Given the description of an element on the screen output the (x, y) to click on. 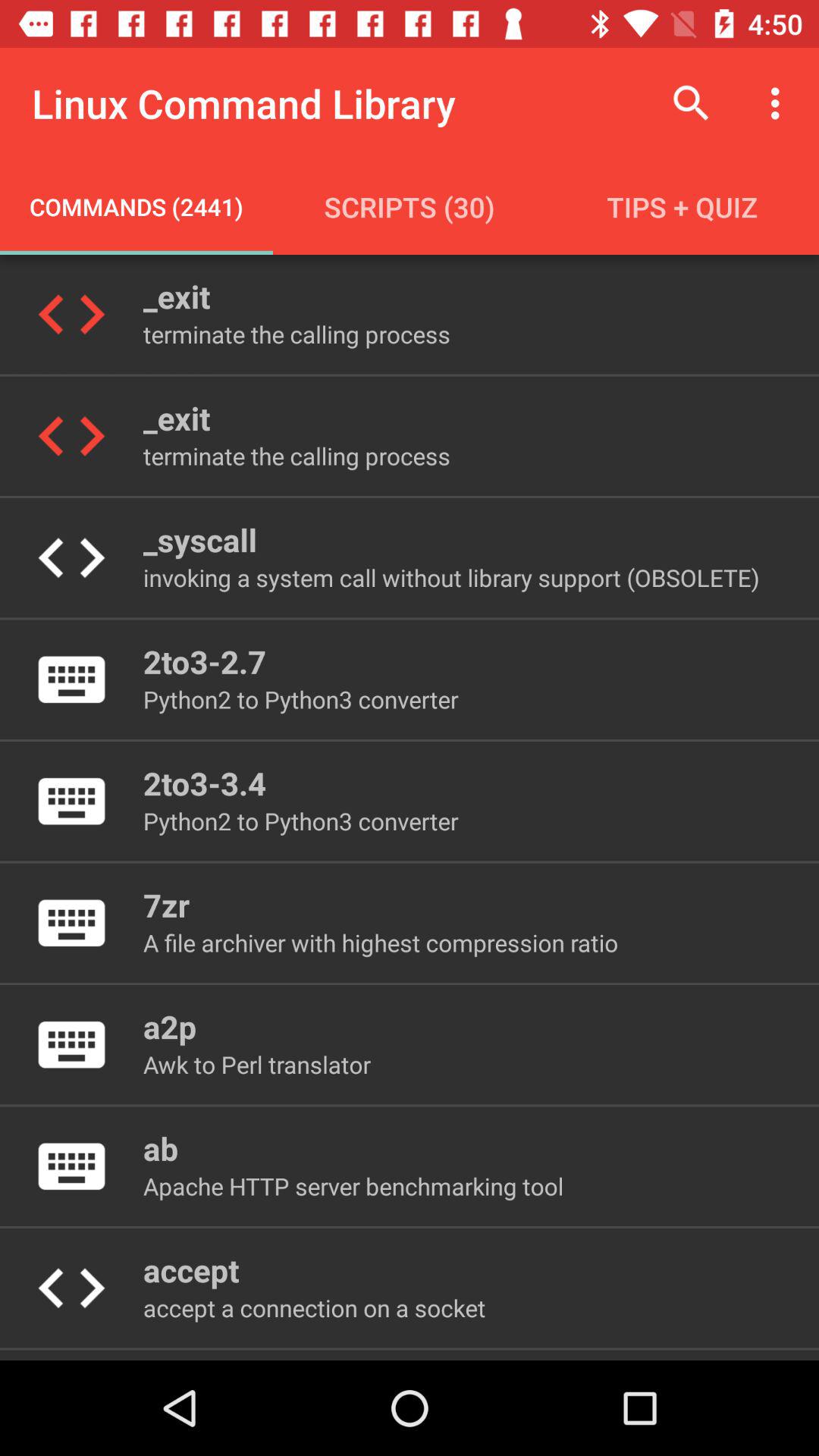
tap item below a file archiver item (169, 1026)
